Given the description of an element on the screen output the (x, y) to click on. 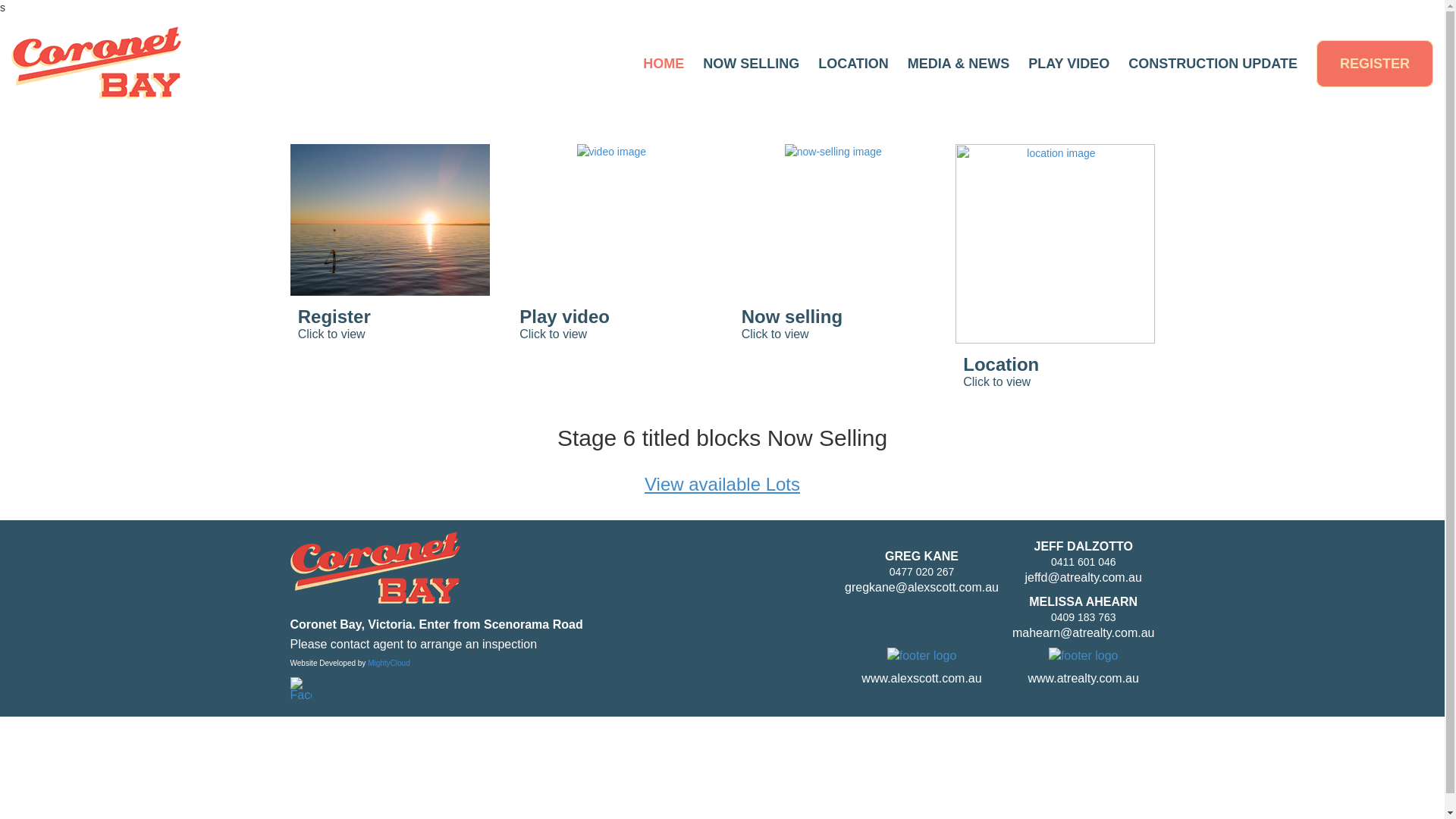
HOME Element type: text (663, 63)
MEDIA & NEWS Element type: text (958, 63)
www.atrealty.com.au Element type: text (1082, 677)
CONSTRUCTION UPDATE Element type: text (1212, 63)
MightyCloud Element type: text (388, 662)
LOCATION Element type: text (853, 63)
View available Lots Element type: text (722, 483)
www.alexscott.com.au Element type: text (921, 677)
REGISTER Element type: text (1374, 63)
PLAY VIDEO Element type: text (1068, 63)
NOW SELLING Element type: text (750, 63)
